Given the description of an element on the screen output the (x, y) to click on. 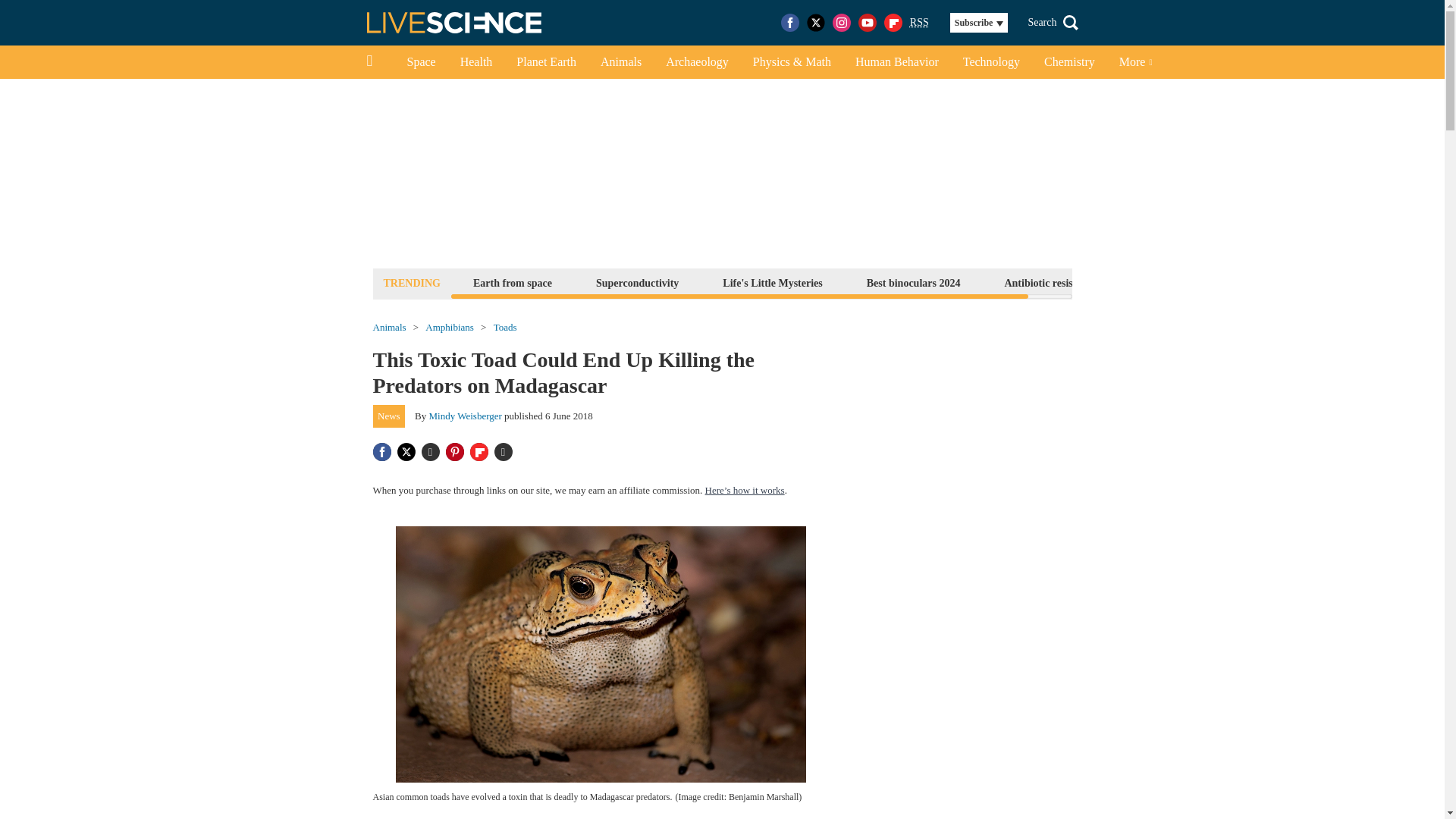
Antibiotic resistance (1050, 282)
Health (476, 61)
Planet Earth (545, 61)
Human Behavior (896, 61)
Archaeology (697, 61)
Animals (620, 61)
Chemistry (1069, 61)
News (389, 415)
Superconductivity (637, 282)
Technology (991, 61)
